Given the description of an element on the screen output the (x, y) to click on. 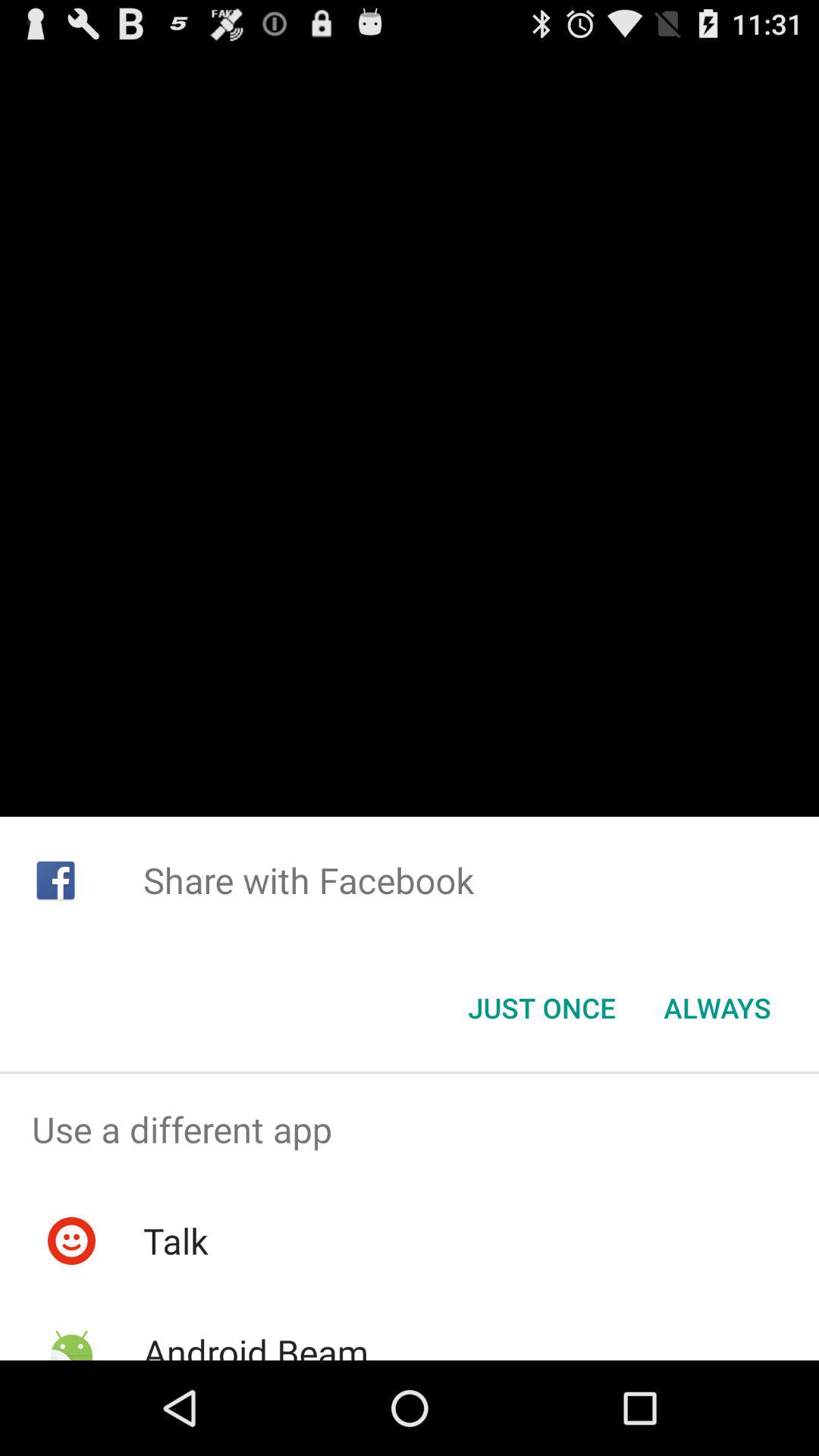
press button at the bottom right corner (717, 1007)
